Given the description of an element on the screen output the (x, y) to click on. 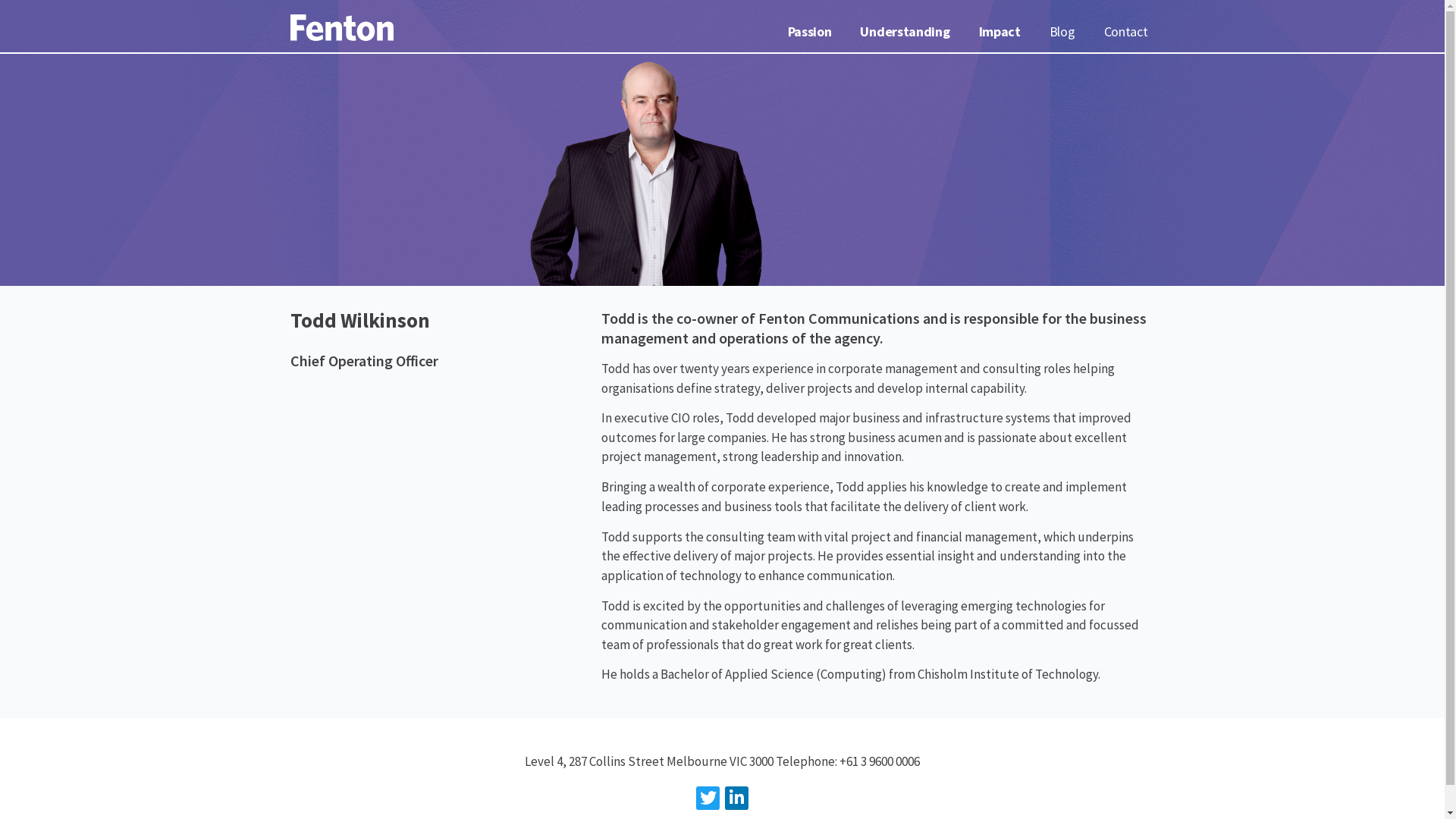
Blog Element type: text (1062, 31)
Impact Element type: text (999, 31)
Passion Element type: text (809, 31)
Understanding Element type: text (904, 31)
Contact Element type: text (1125, 31)
